Given the description of an element on the screen output the (x, y) to click on. 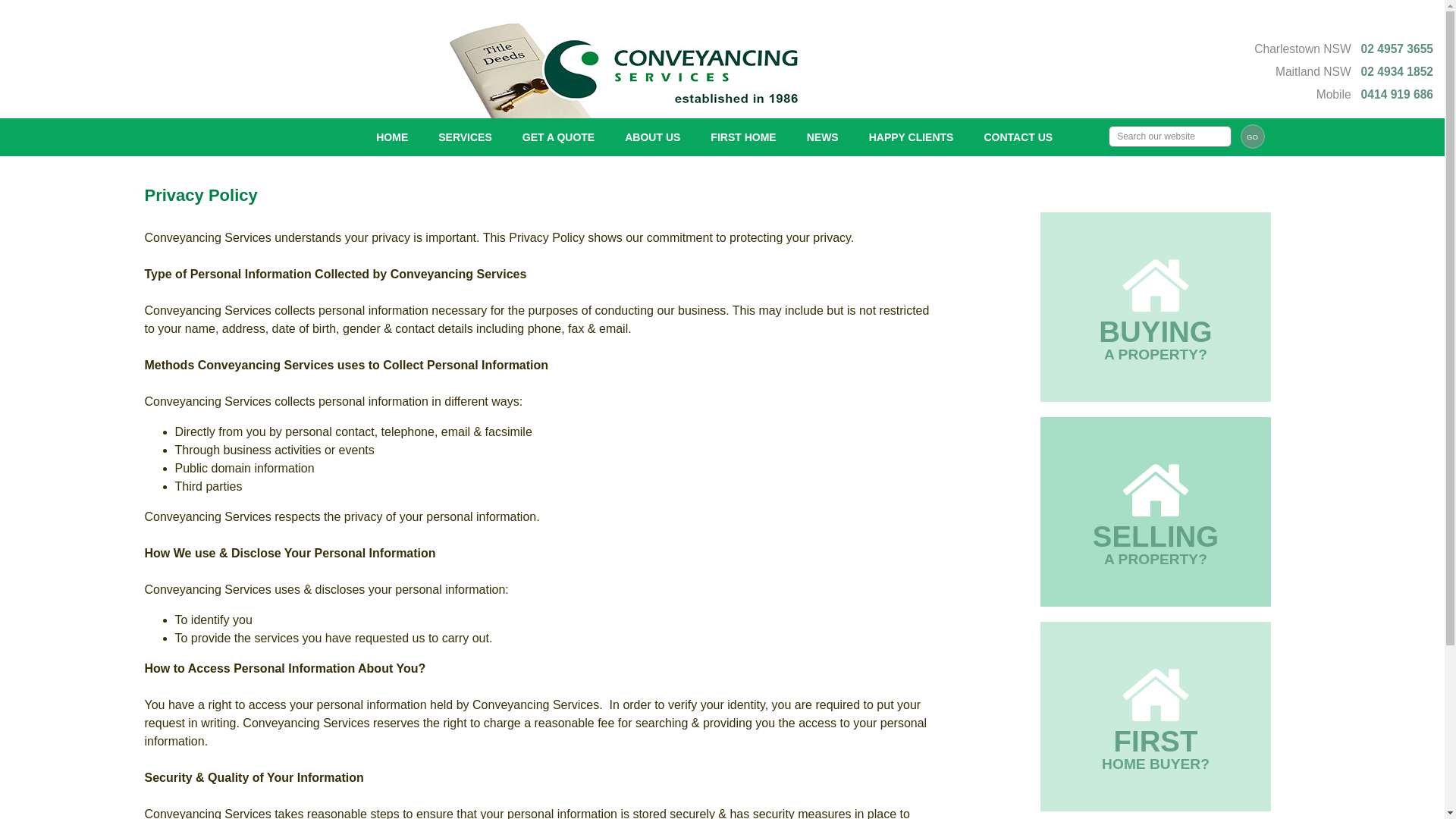
NEWS Element type: text (822, 137)
FIRST HOME Element type: text (742, 137)
ABOUT US Element type: text (652, 137)
SERVICES Element type: text (465, 137)
CONTACT US Element type: text (1017, 137)
Mobile   0414 919 686 Element type: text (1374, 93)
Charlestown NSW   02 4957 3655 Element type: text (1343, 48)
HOME Element type: text (391, 137)
SELLING
A PROPERTY? Element type: text (1155, 511)
Maitland NSW   02 4934 1852 Element type: text (1354, 71)
GO Element type: text (1252, 136)
FIRST
HOME BUYER? Element type: text (1155, 716)
BUYING
A PROPERTY? Element type: text (1155, 306)
GET A QUOTE Element type: text (558, 137)
HAPPY CLIENTS Element type: text (911, 137)
